Given the description of an element on the screen output the (x, y) to click on. 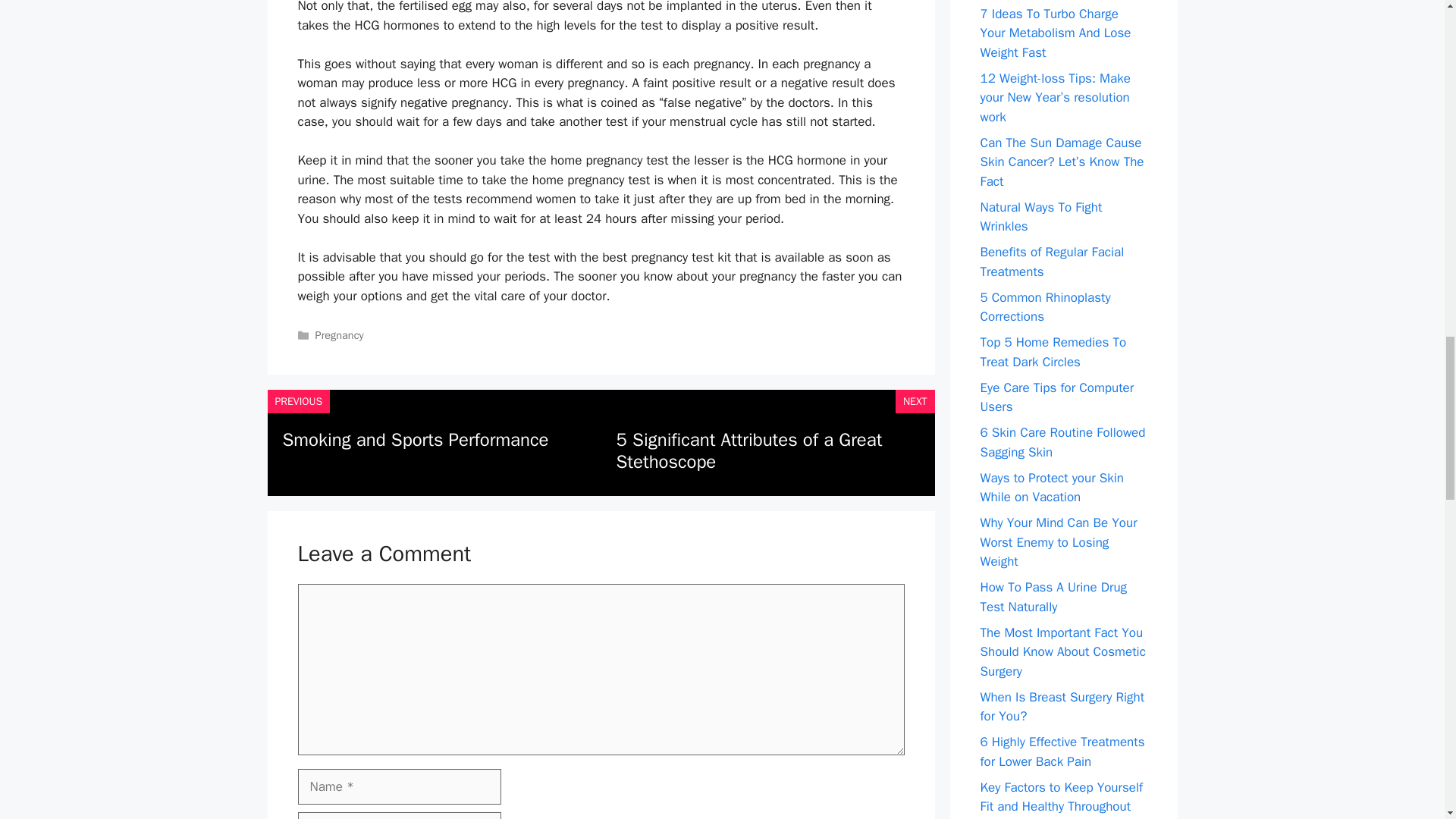
5 Significant Attributes of a Great Stethoscope (748, 450)
Smoking and Sports Performance (415, 439)
Pregnancy (339, 335)
